Given the description of an element on the screen output the (x, y) to click on. 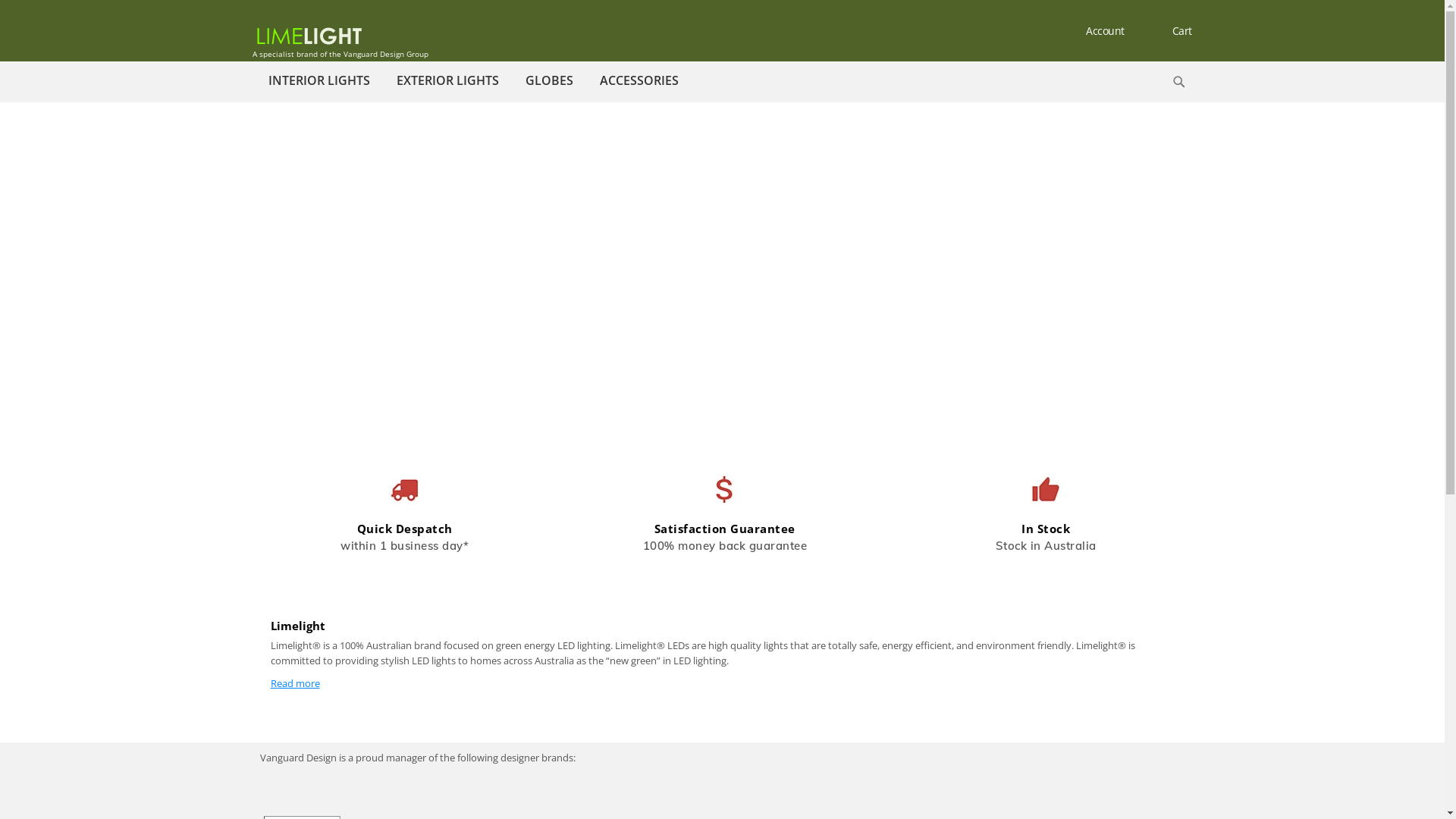
Account Element type: text (1089, 30)
Search Element type: text (1178, 81)
EXTERIOR LIGHTS Element type: text (447, 80)
Limelightled Store Element type: hover (308, 34)
ACCESSORIES Element type: text (639, 80)
Cart Element type: text (1169, 30)
GLOBES Element type: text (549, 80)
Read more Element type: text (294, 683)
INTERIOR LIGHTS Element type: text (318, 80)
